Given the description of an element on the screen output the (x, y) to click on. 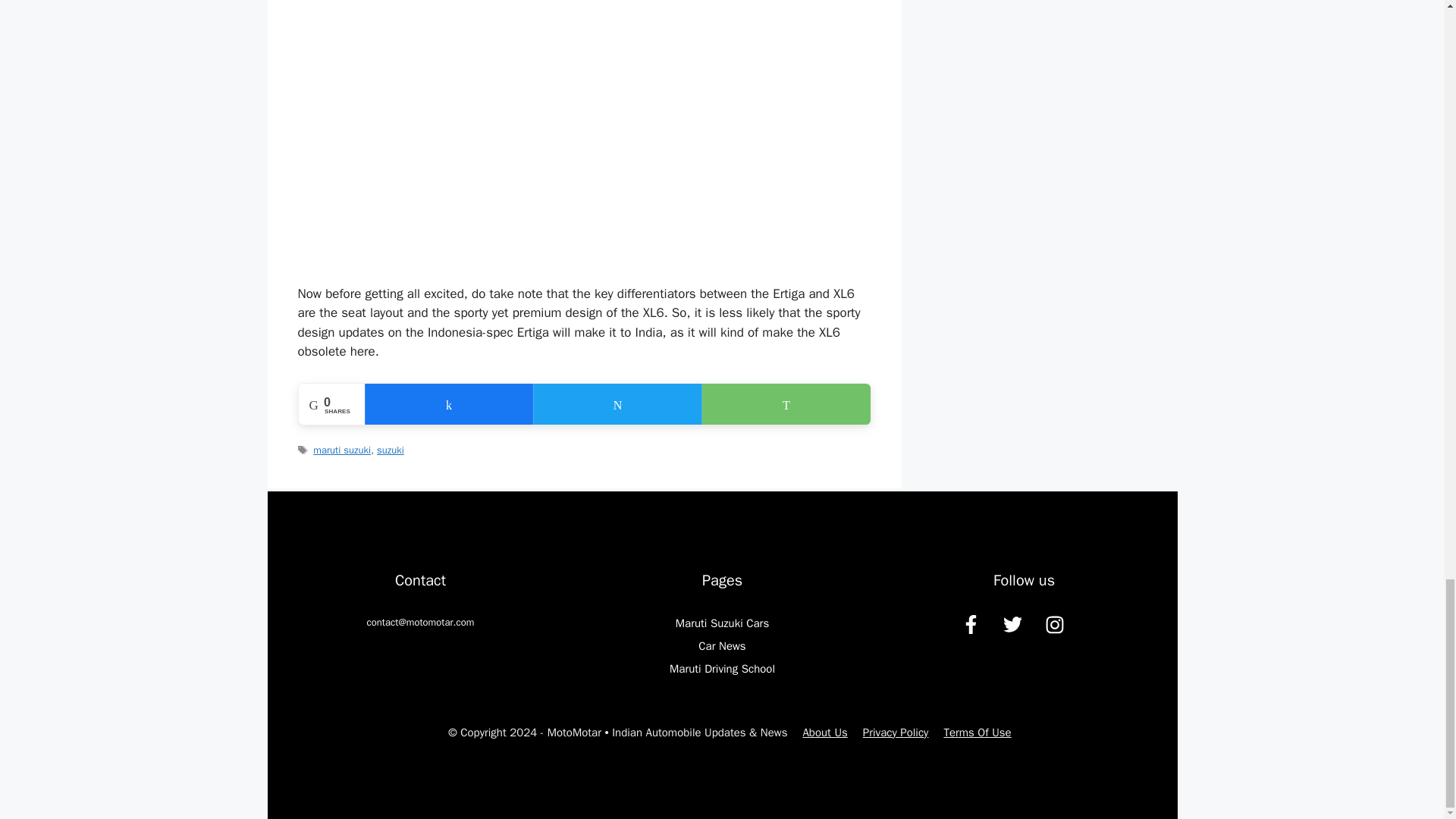
Maruti Suzuki Cars (721, 623)
suzuki (390, 449)
maruti suzuki (342, 449)
Car News (721, 646)
Maruti Driving School (721, 669)
